Given the description of an element on the screen output the (x, y) to click on. 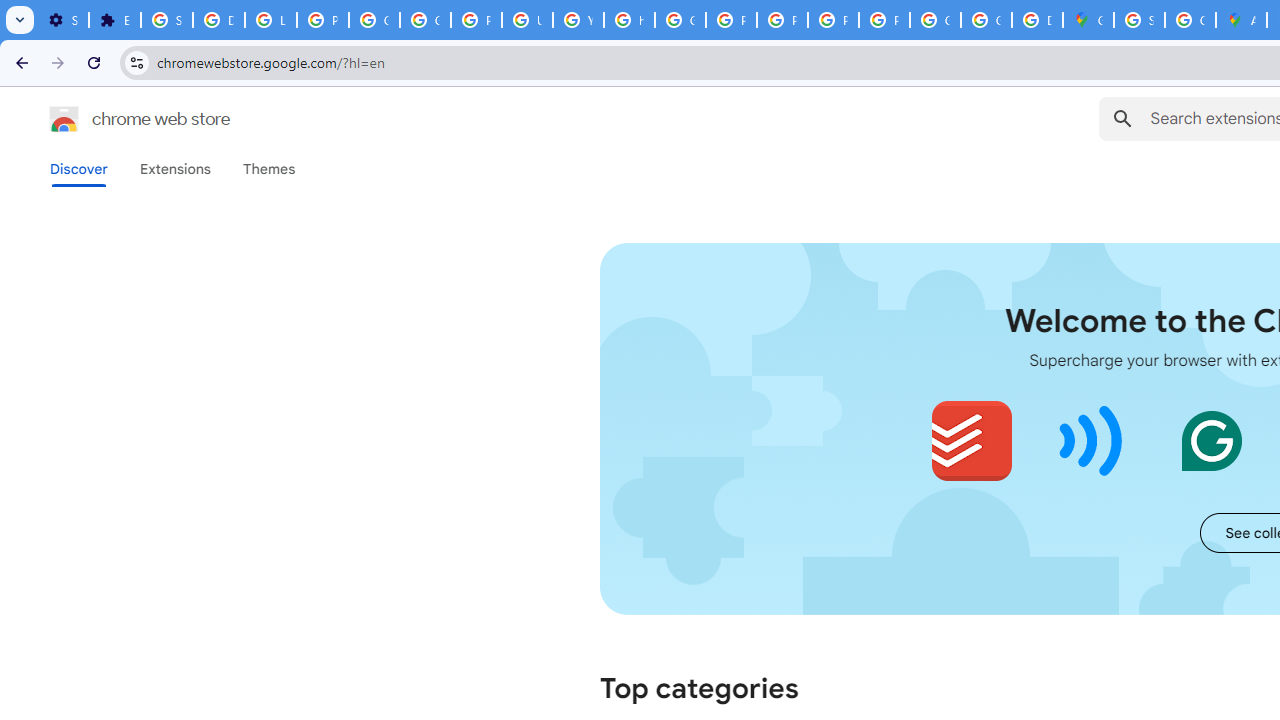
YouTube (578, 20)
Sign in - Google Accounts (1138, 20)
Google Account Help (374, 20)
Grammarly: AI Writing and Grammar Checker App (1211, 440)
Google Maps (1087, 20)
Privacy Help Center - Policies Help (731, 20)
Chrome Web Store logo (63, 118)
Delete photos & videos - Computer - Google Photos Help (218, 20)
